Given the description of an element on the screen output the (x, y) to click on. 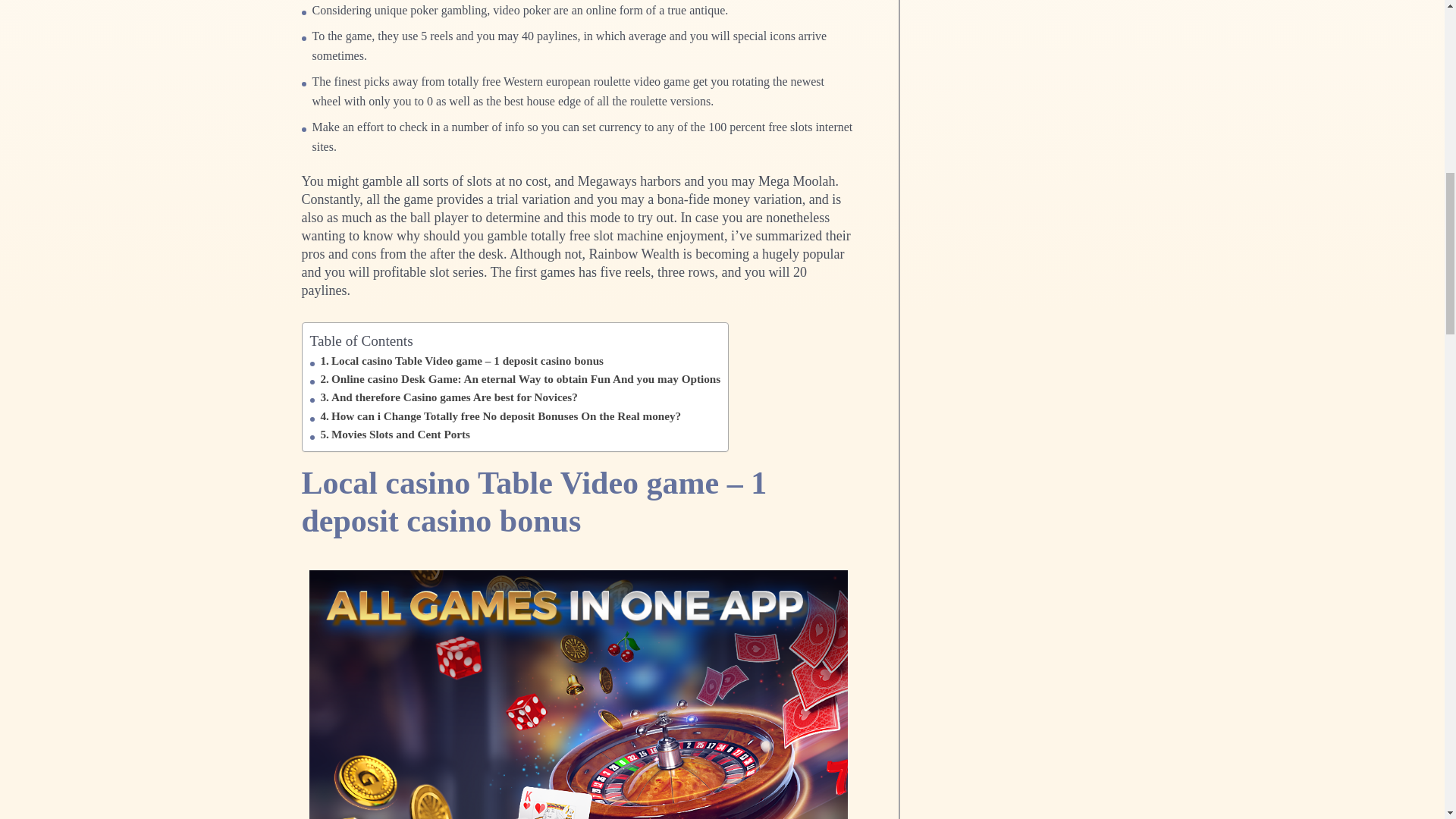
Movies Slots and Cent Ports (395, 434)
And therefore Casino games Are best for Novices? (448, 397)
And therefore Casino games Are best for Novices? (448, 397)
